Given the description of an element on the screen output the (x, y) to click on. 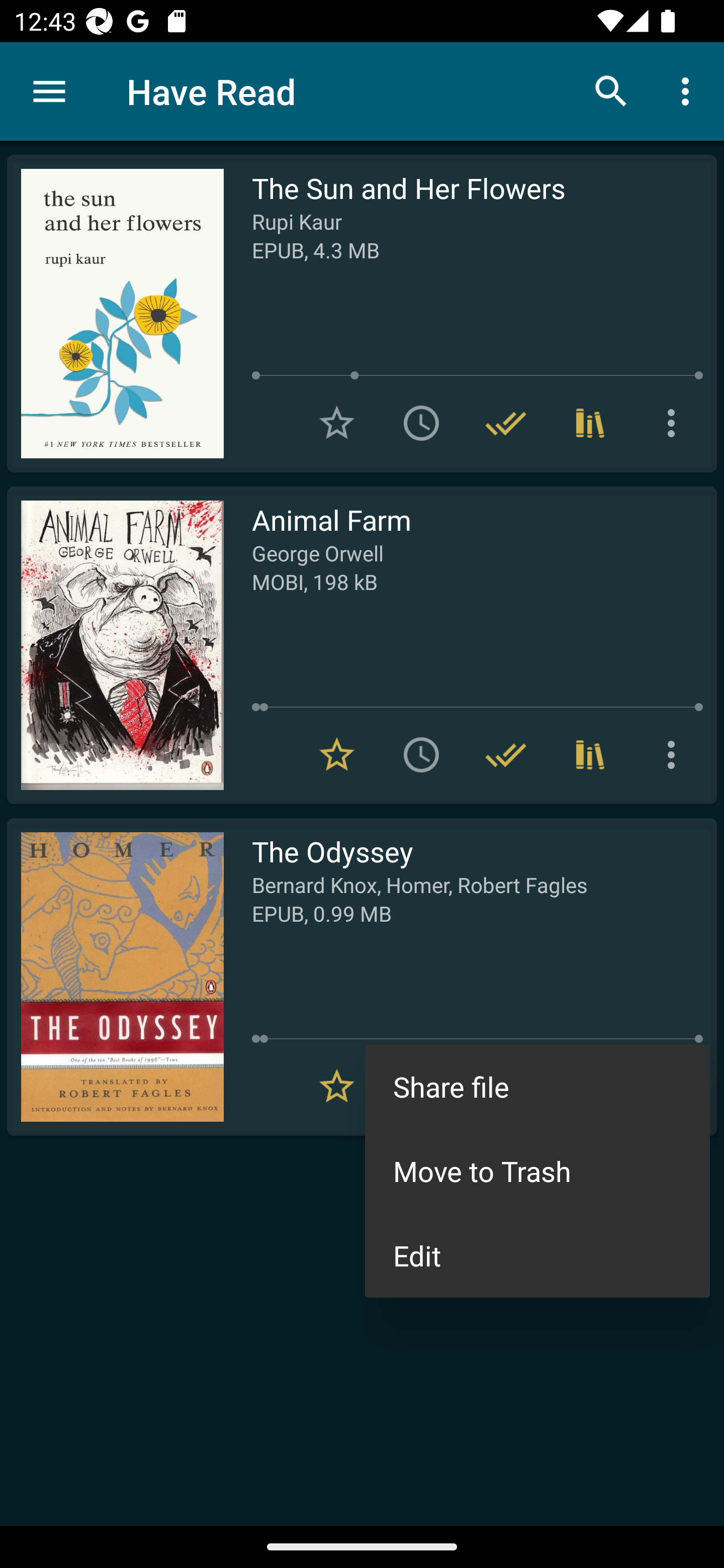
Share file (537, 1086)
Move to Trash (537, 1170)
Edit (537, 1255)
